Given the description of an element on the screen output the (x, y) to click on. 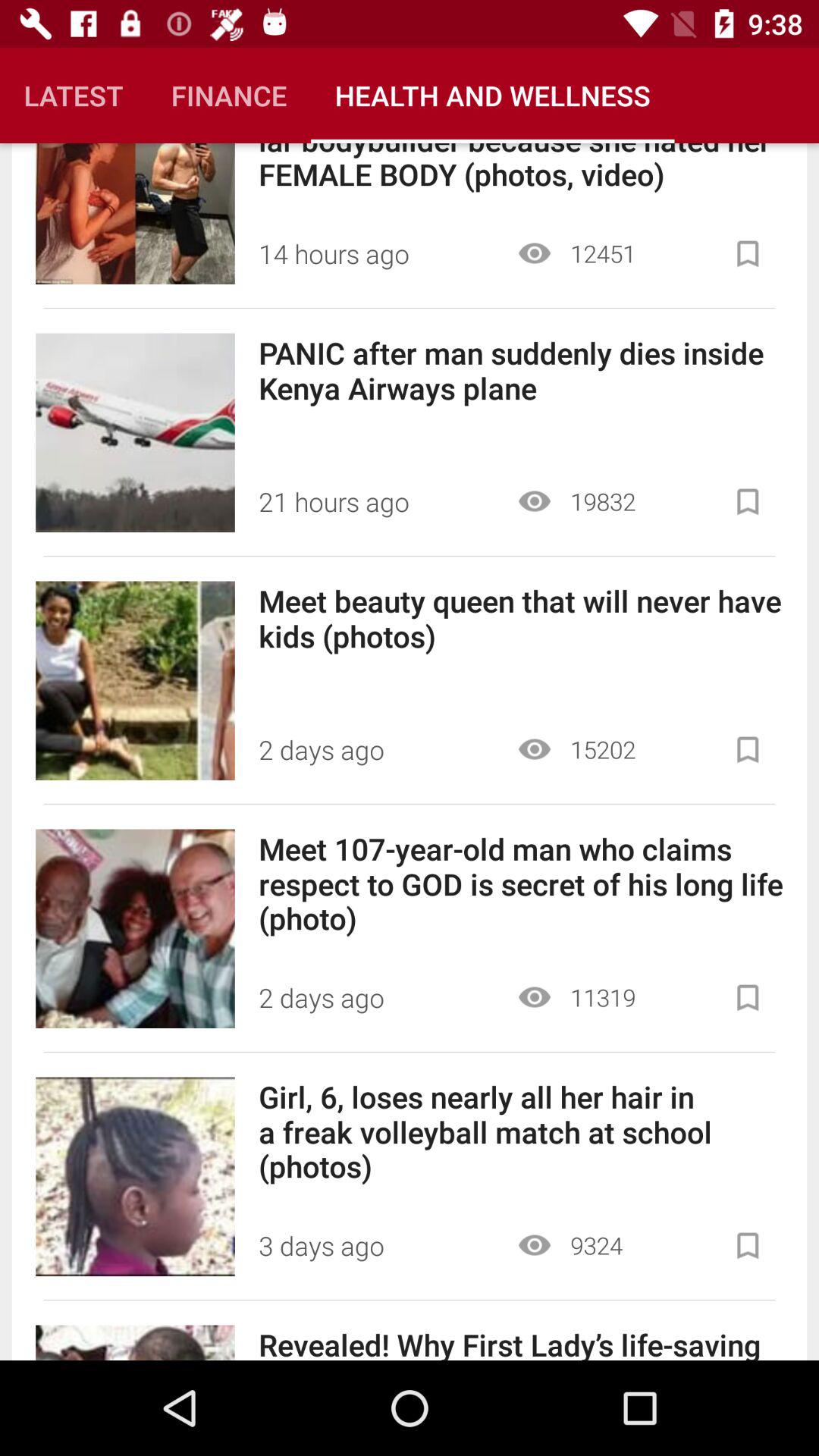
additional options for this news item (747, 501)
